Given the description of an element on the screen output the (x, y) to click on. 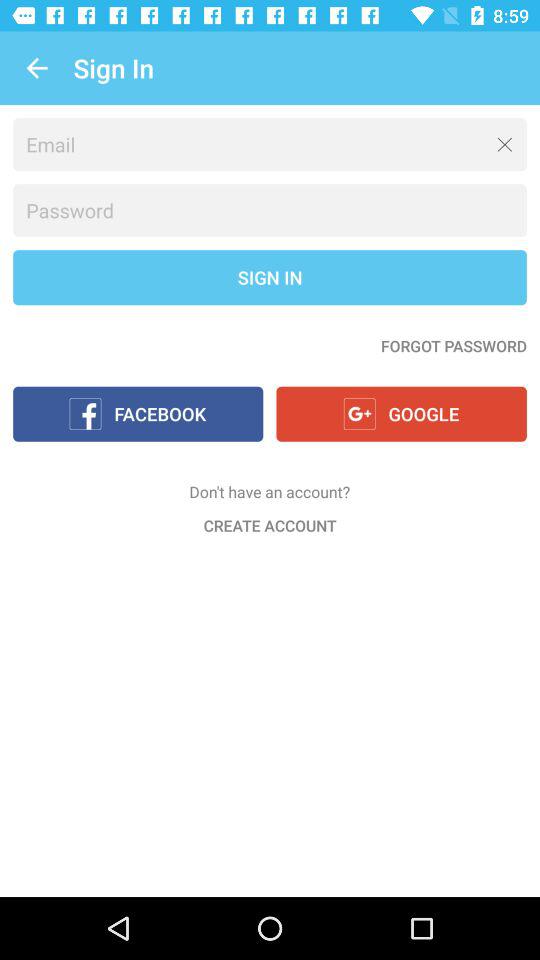
click icon below don t have (269, 525)
